Given the description of an element on the screen output the (x, y) to click on. 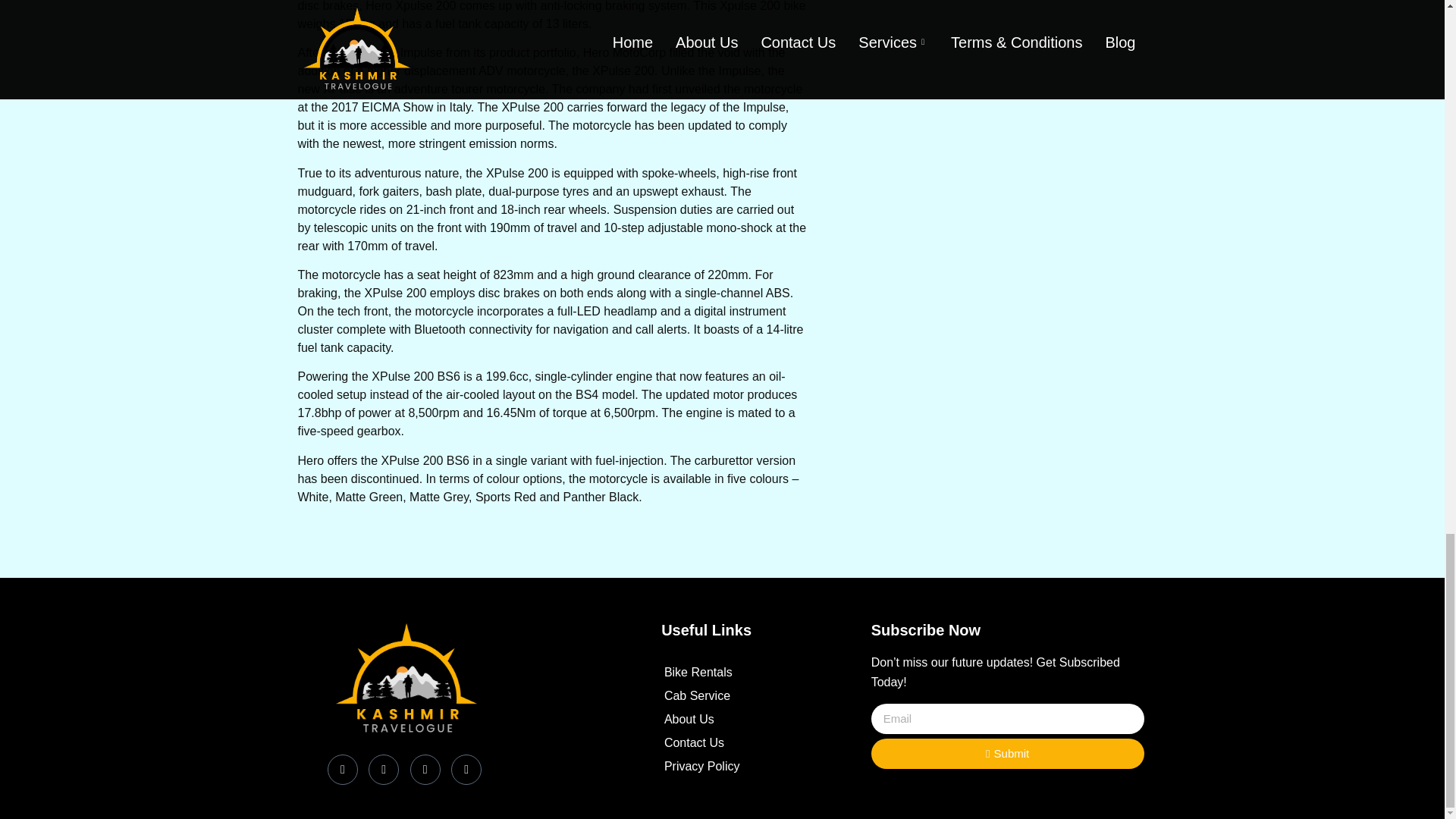
Contact Us (720, 742)
Privacy Policy (720, 766)
About Us (720, 719)
Bike Rentals (720, 672)
Submit (1007, 753)
Cab Service (720, 696)
